Given the description of an element on the screen output the (x, y) to click on. 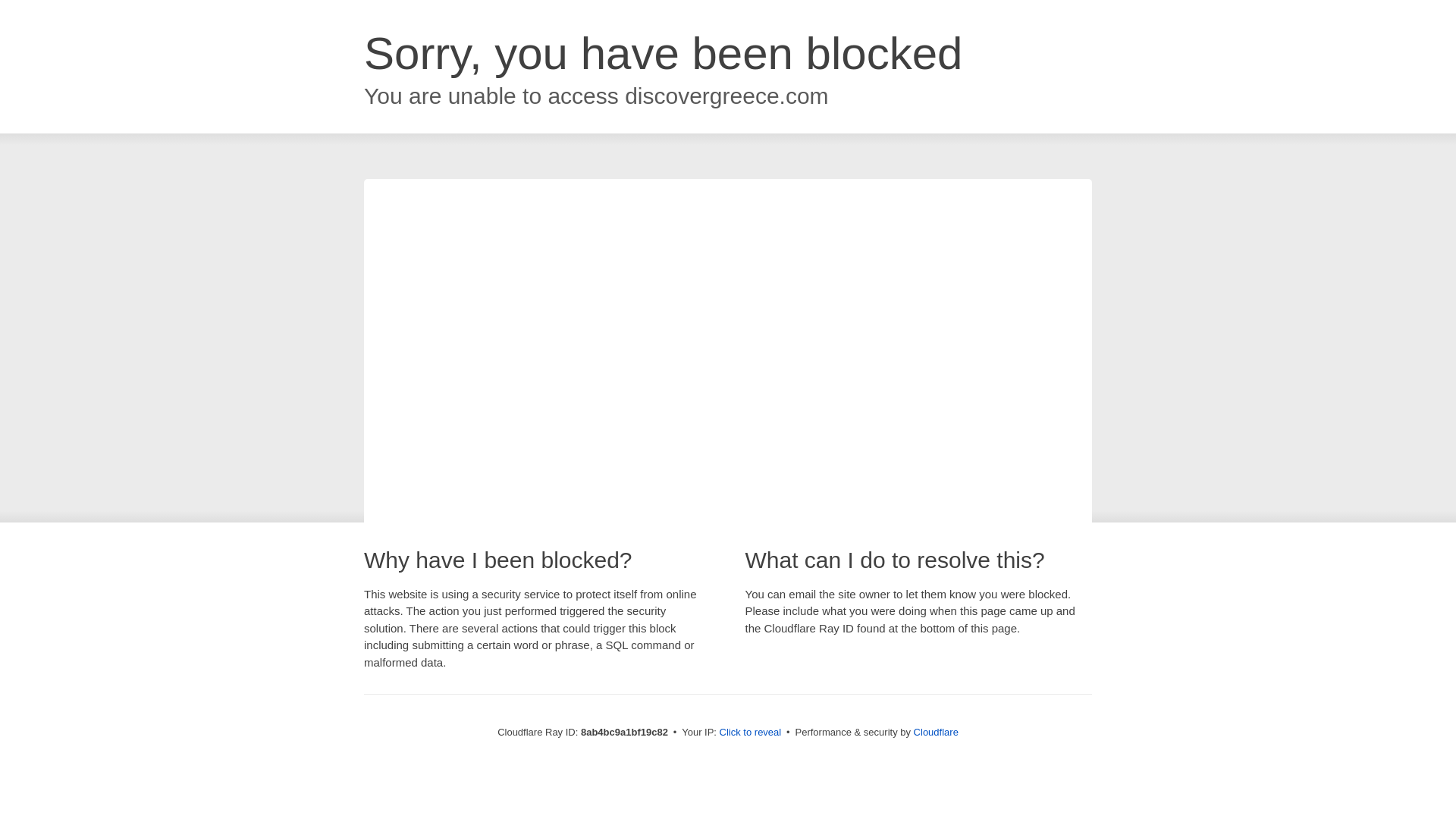
Cloudflare (936, 731)
Click to reveal (750, 732)
